Given the description of an element on the screen output the (x, y) to click on. 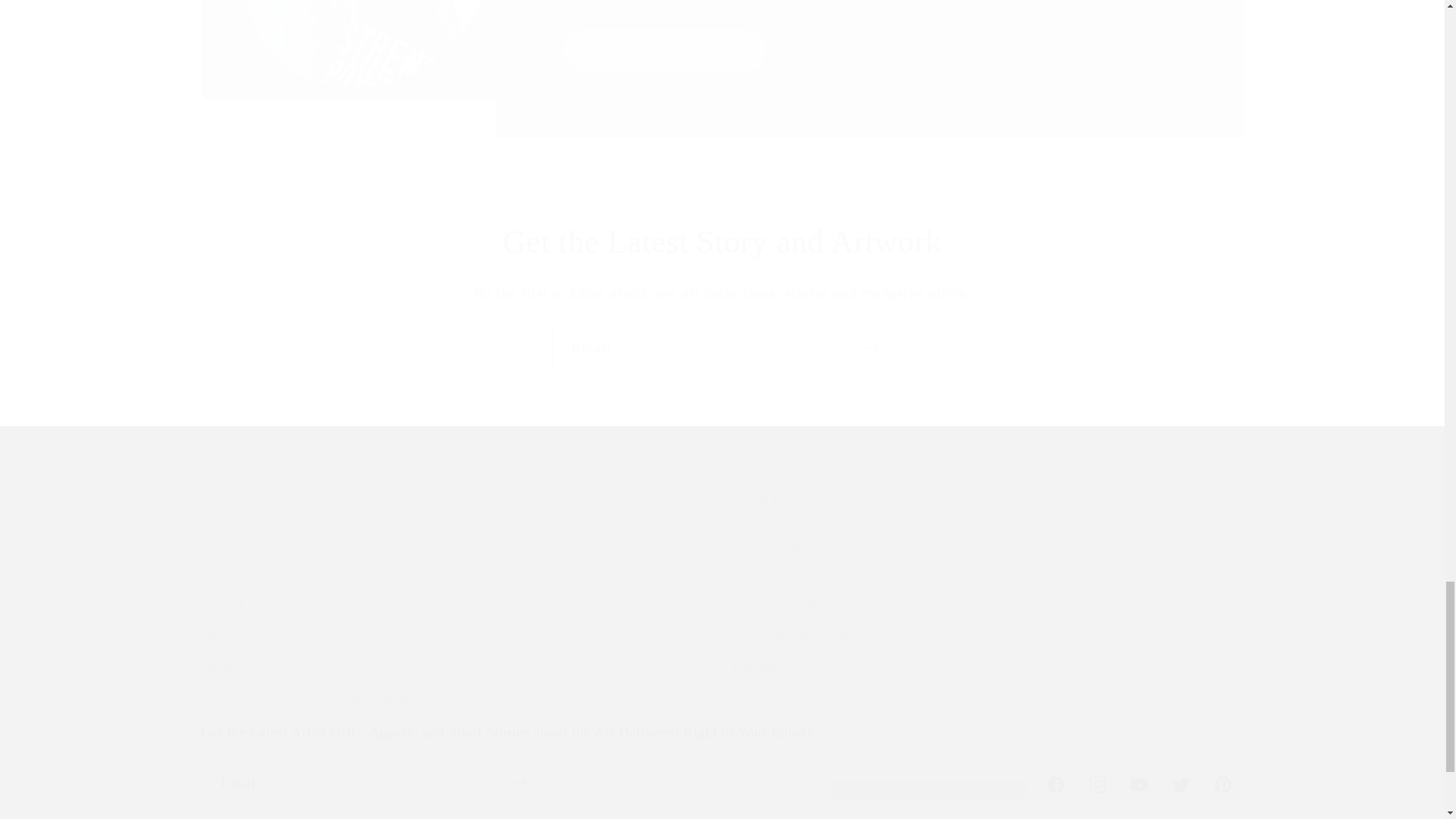
Get the Latest Story and Artwork (721, 241)
Email (722, 347)
